Given the description of an element on the screen output the (x, y) to click on. 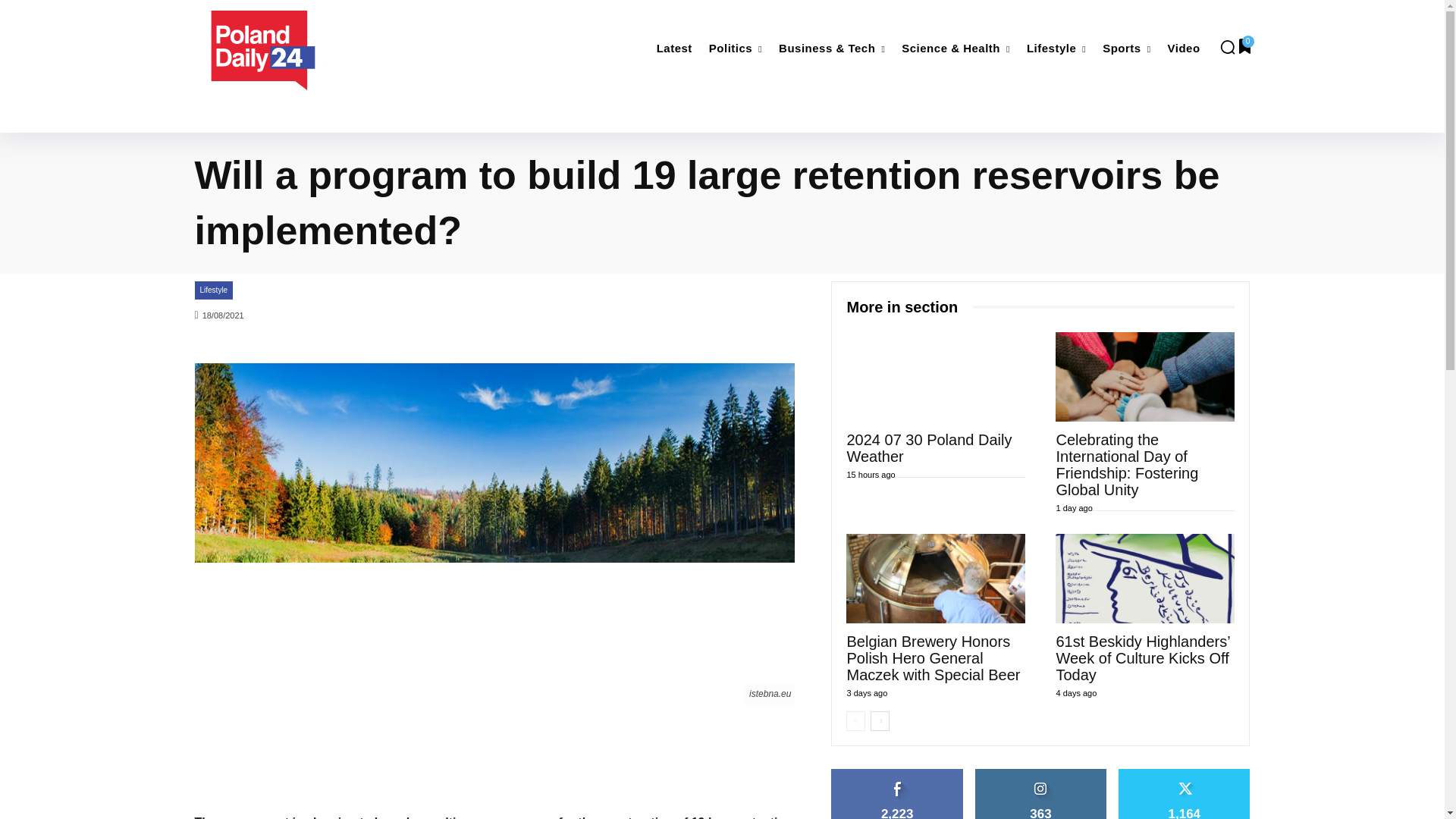
Politics (735, 48)
